Given the description of an element on the screen output the (x, y) to click on. 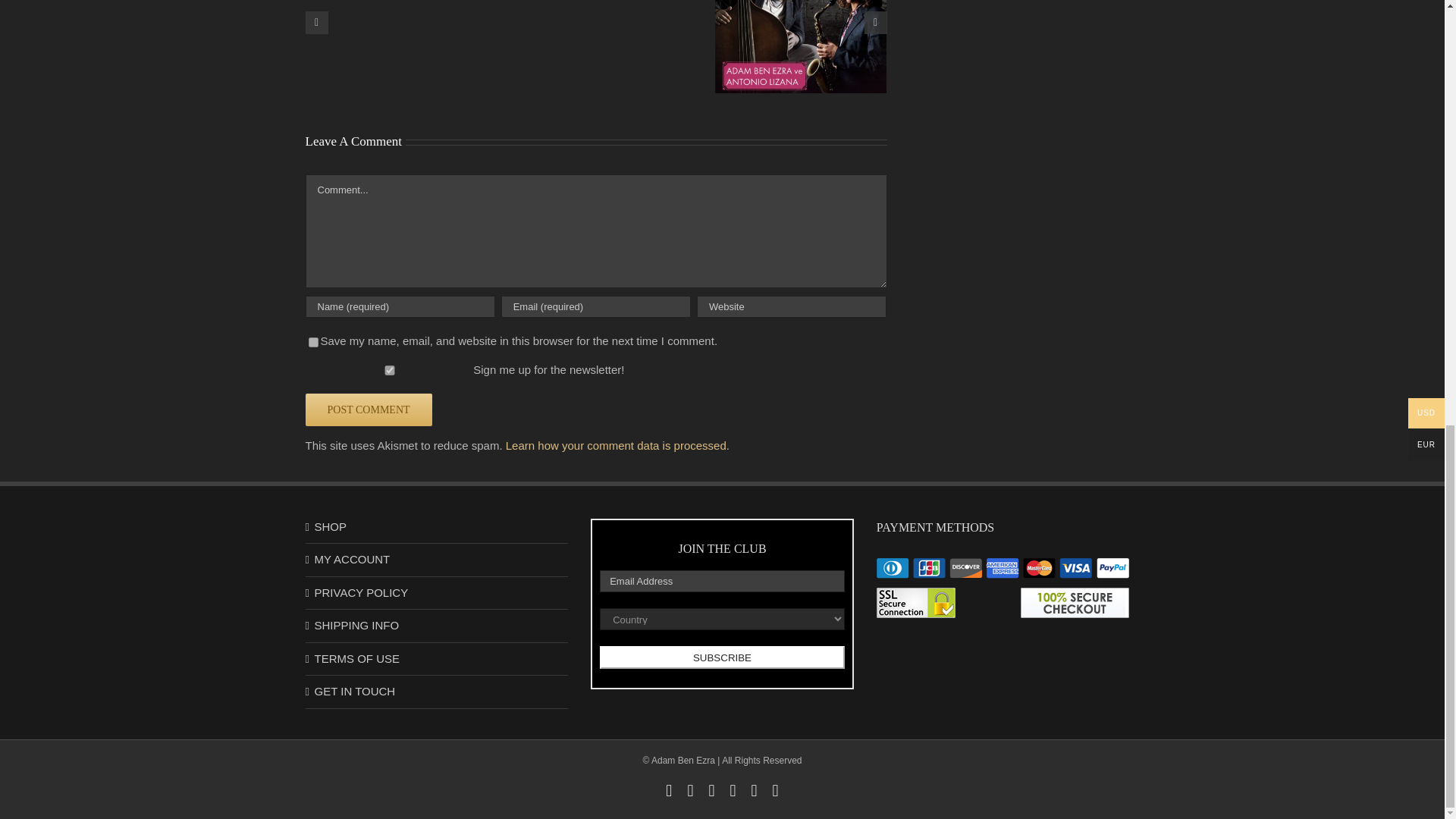
SUBSCRIBE (721, 657)
1 (388, 370)
Post Comment (367, 409)
yes (312, 342)
